Given the description of an element on the screen output the (x, y) to click on. 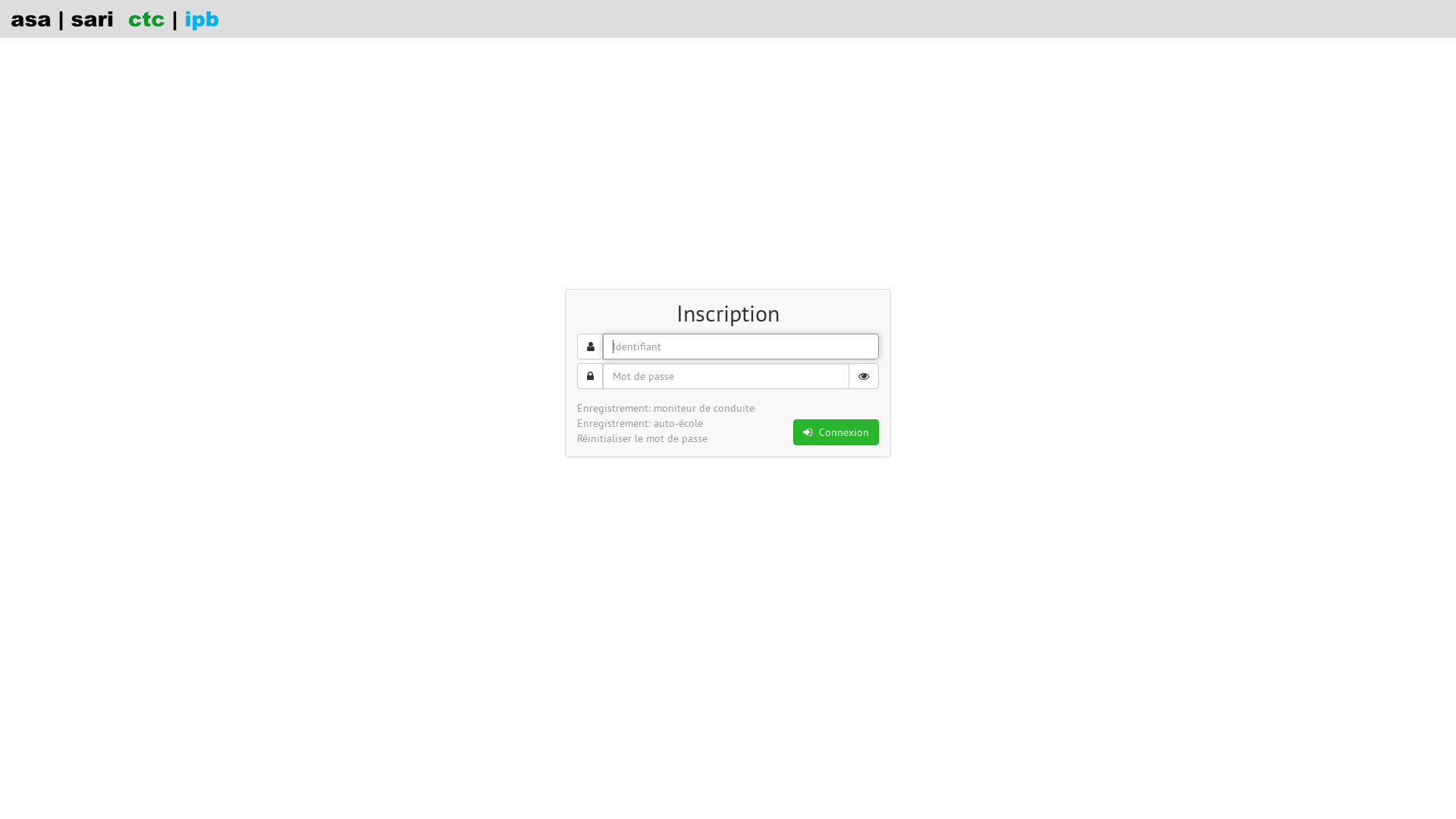
Enregistrement: moniteur de conduite Element type: text (665, 407)
Connexion Element type: text (835, 432)
